Given the description of an element on the screen output the (x, y) to click on. 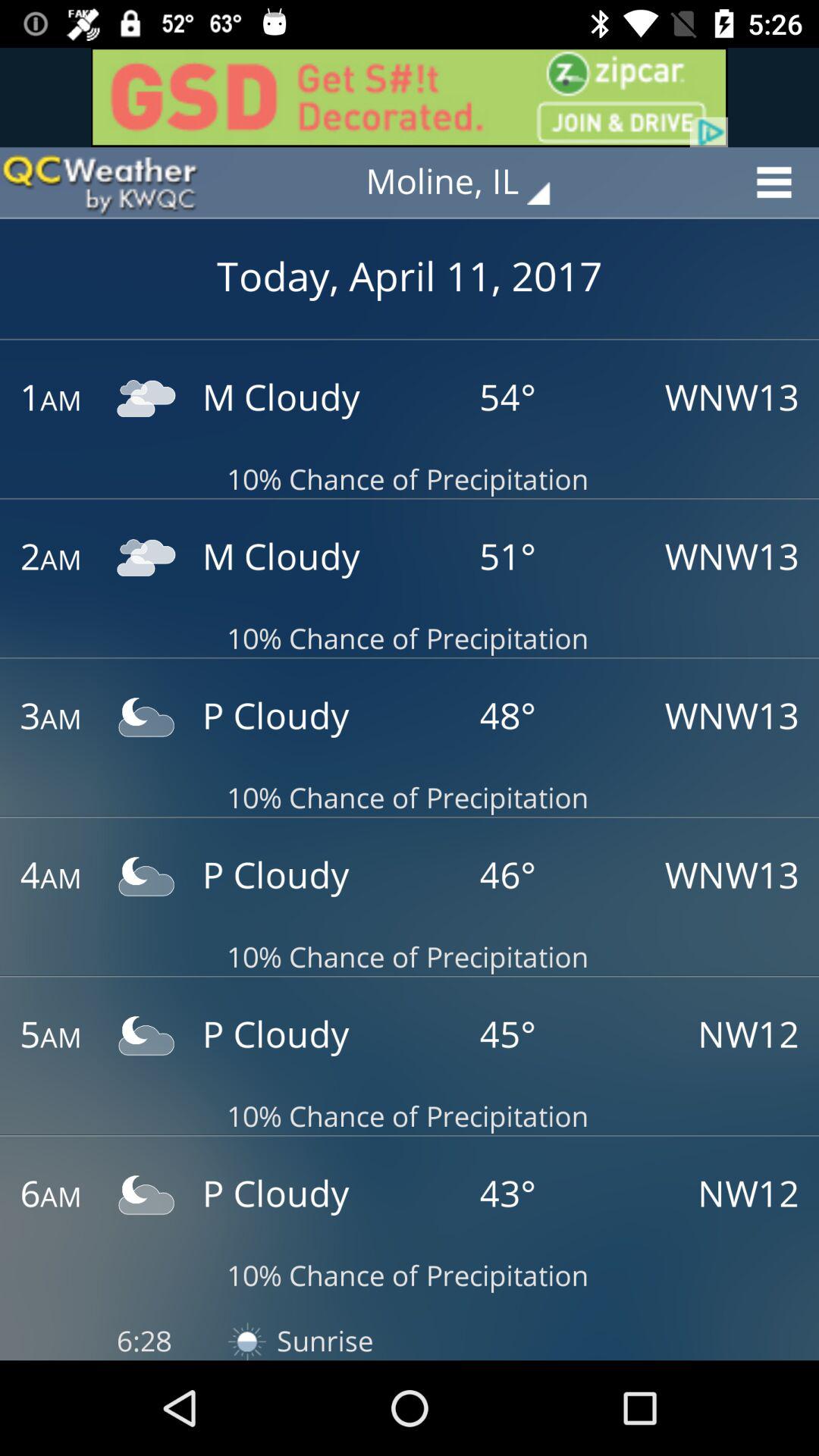
switch to qcweather app (99, 182)
